Given the description of an element on the screen output the (x, y) to click on. 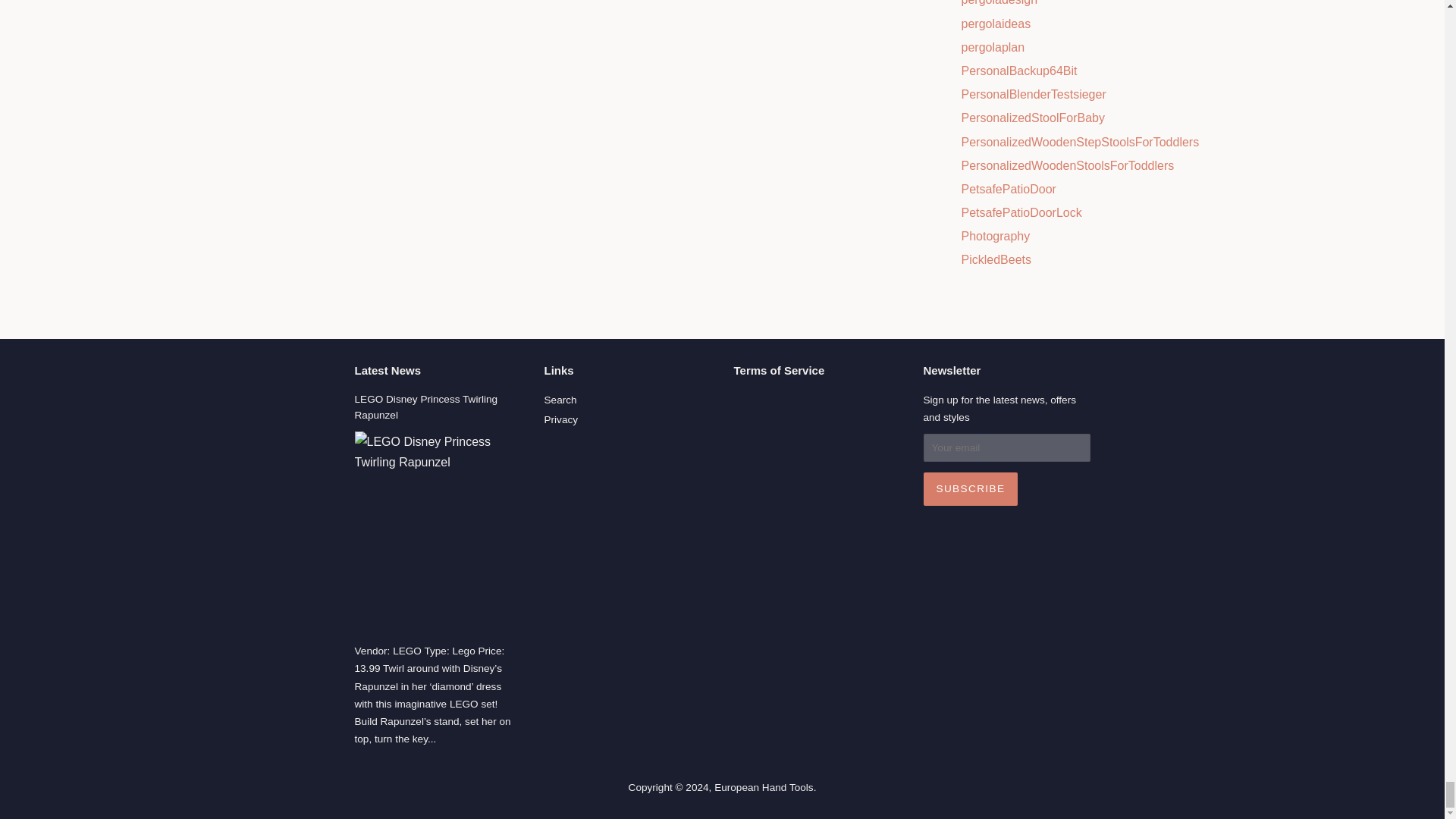
Subscribe (970, 489)
